Given the description of an element on the screen output the (x, y) to click on. 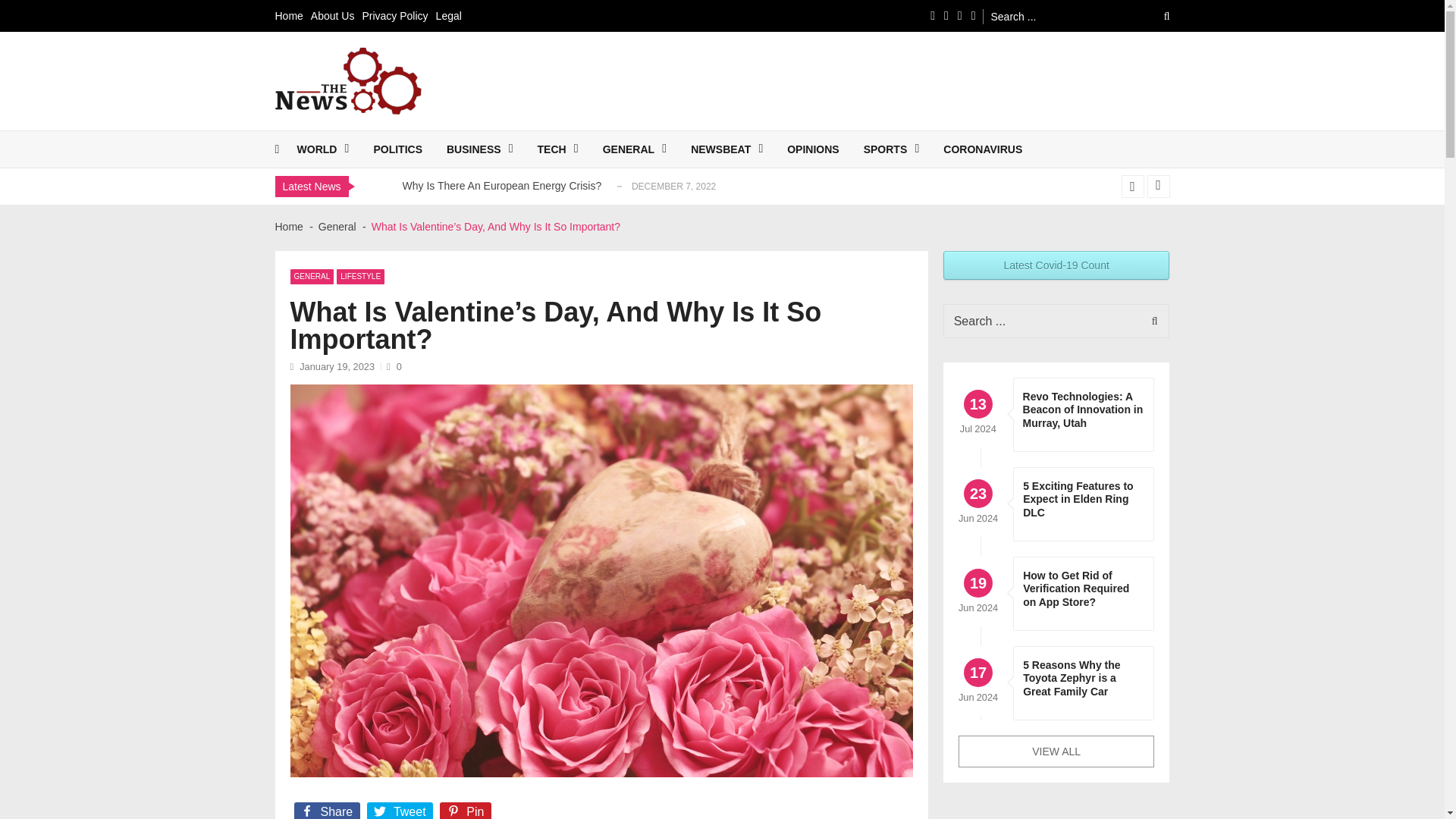
Pin (467, 810)
Search (1156, 15)
Search (1150, 320)
Share on Facebook (328, 810)
Search (1150, 320)
Search (1156, 15)
Tweet (400, 810)
